Given the description of an element on the screen output the (x, y) to click on. 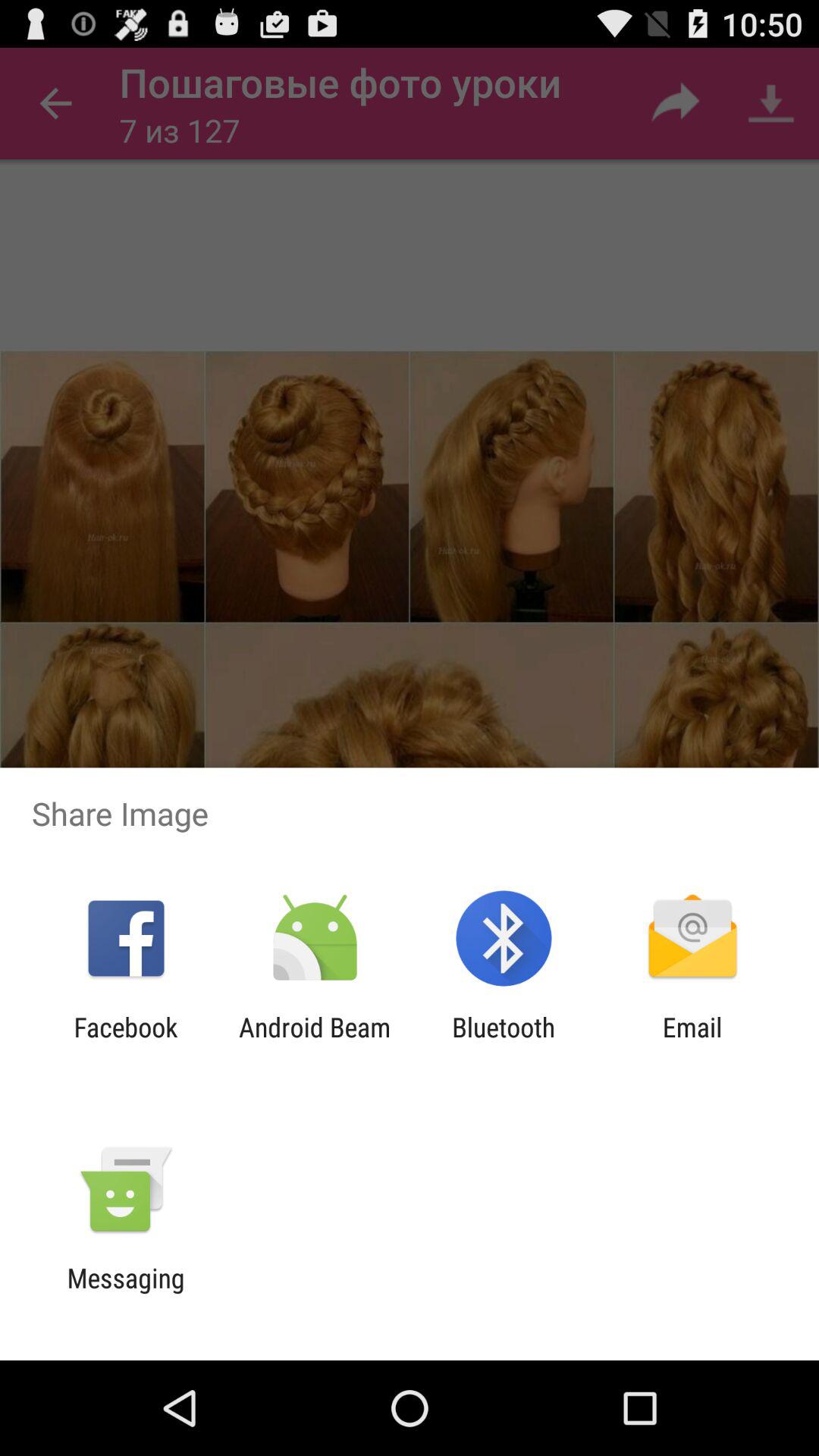
scroll to the email (692, 1042)
